Given the description of an element on the screen output the (x, y) to click on. 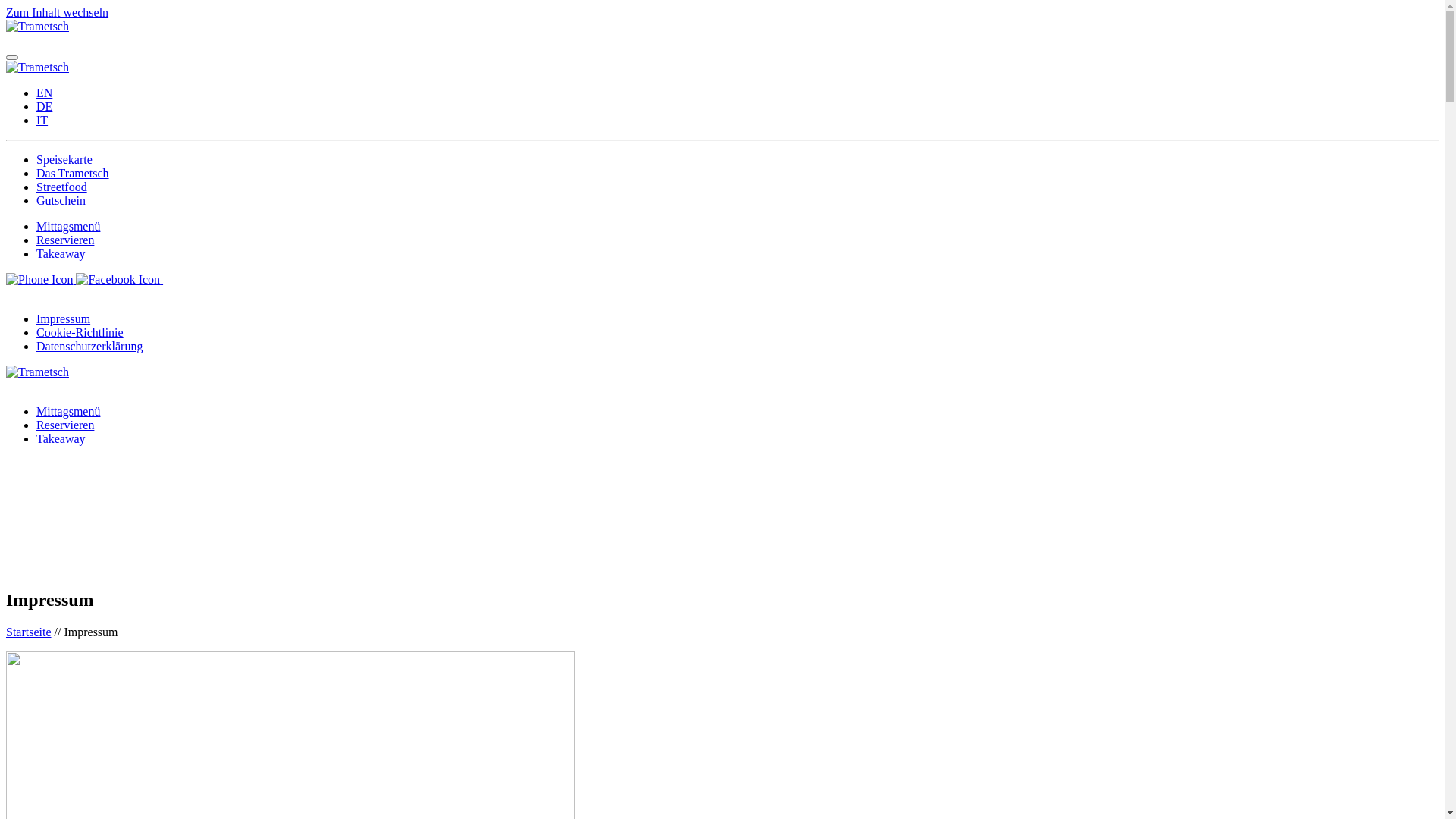
Takeaway Element type: text (60, 253)
Das Trametsch Element type: text (72, 172)
Startseite Element type: text (28, 631)
Takeaway Element type: text (60, 438)
Gutschein Element type: text (60, 200)
Streetfood Element type: text (61, 186)
IT Element type: text (41, 119)
Impressum Element type: text (63, 318)
Zum Inhalt wechseln Element type: text (57, 12)
Cookie-Richtlinie Element type: text (79, 332)
Speisekarte Element type: text (64, 159)
DE Element type: text (44, 106)
EN Element type: text (44, 92)
Reservieren Element type: text (65, 239)
Reservieren Element type: text (65, 424)
